Given the description of an element on the screen output the (x, y) to click on. 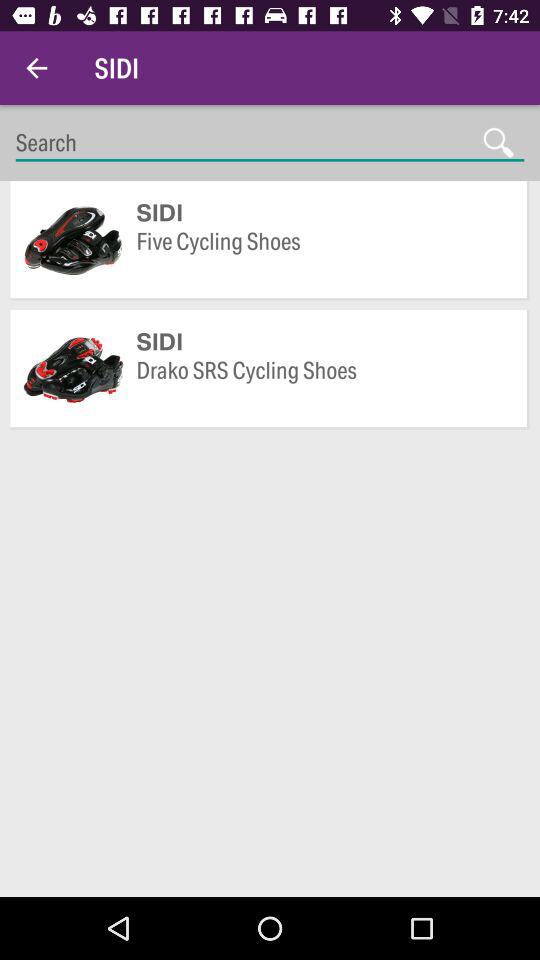
search (269, 142)
